Given the description of an element on the screen output the (x, y) to click on. 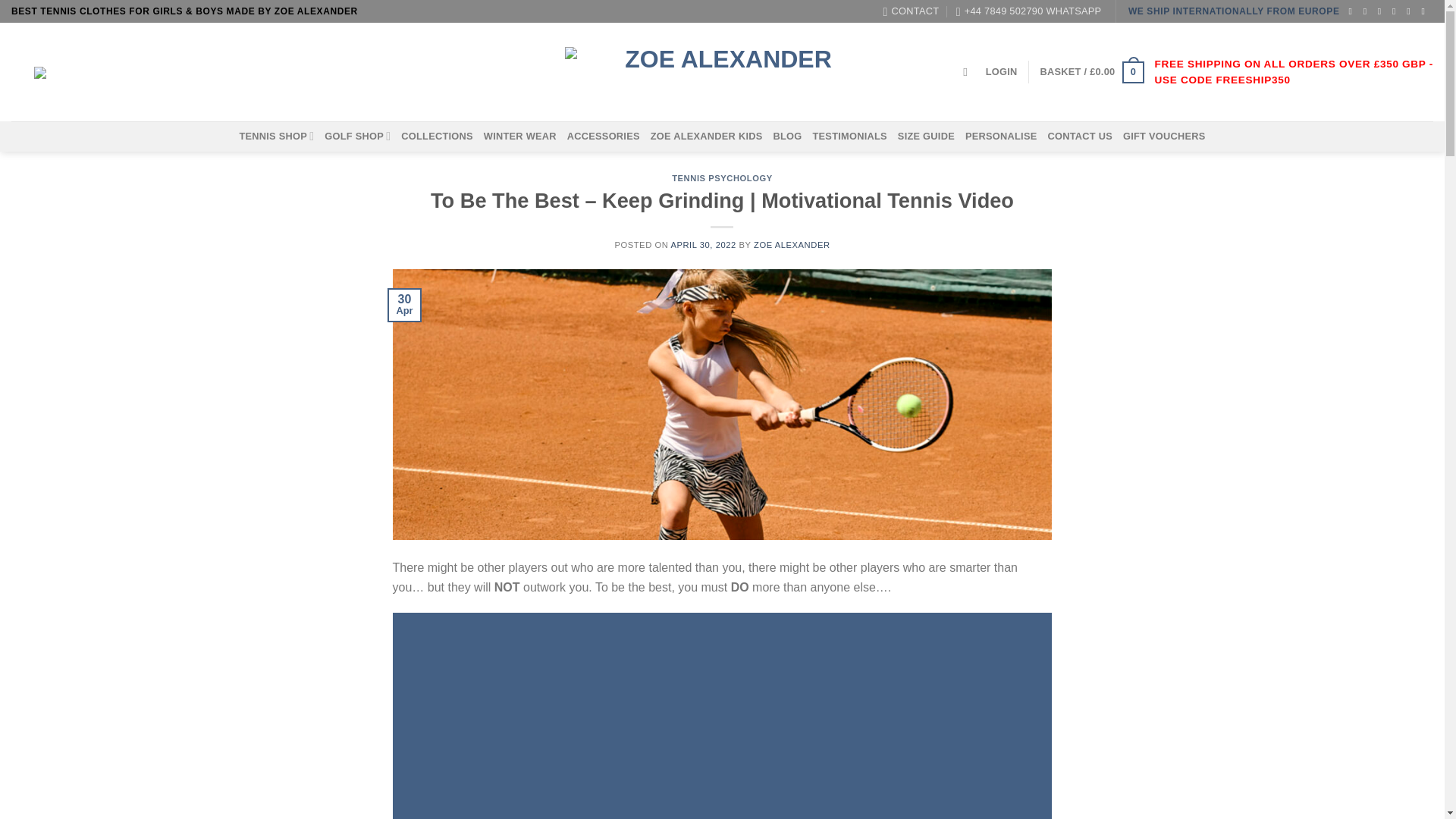
WE SHIP INTERNATIONALLY FROM EUROPE (1233, 10)
COLLECTIONS (437, 135)
ZOE ALEXANDER KIDS (706, 135)
WINTER WEAR (519, 135)
LOGIN (1001, 71)
GOLF SHOP (357, 135)
CONTACT (910, 11)
TENNIS SHOP (276, 135)
ACCESSORIES (603, 135)
Basket (1092, 72)
